Given the description of an element on the screen output the (x, y) to click on. 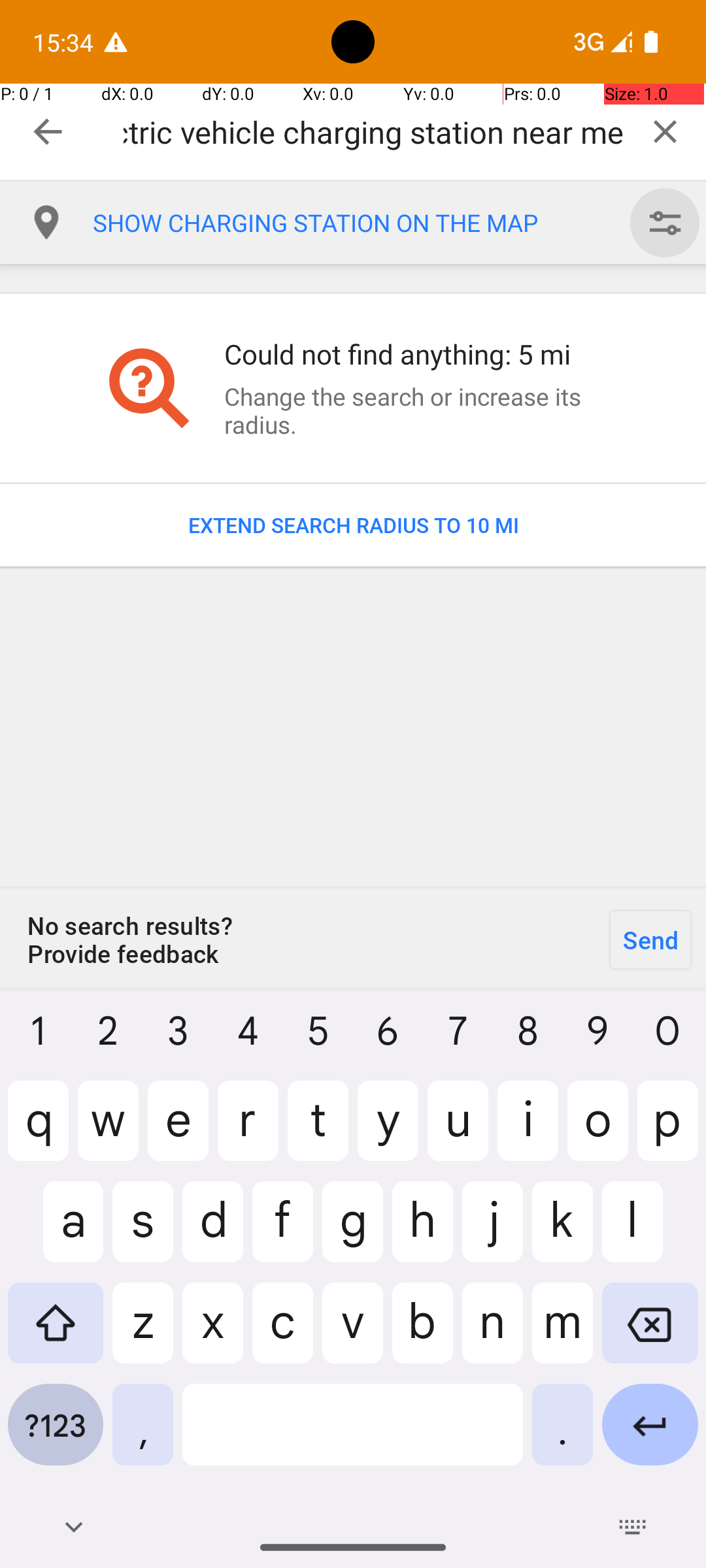
No search results?
Provide feedback Element type: android.widget.TextView (297, 939)
Charging station Electric vehicle charging station near me Element type: android.widget.EditText (373, 131)
Clear Element type: android.widget.ImageButton (664, 131)
SHOW CHARGING STATION ON THE MAP Element type: android.widget.TextView (357, 222)
Custom filter Element type: android.widget.ImageButton (664, 222)
Send Element type: android.widget.TextView (650, 939)
Could not find anything: 5 mi Element type: android.widget.TextView (414, 353)
Change the search or increase its radius. Element type: android.widget.TextView (414, 410)
EXTEND SEARCH RADIUS TO 10 MI Element type: android.widget.TextView (352, 524)
